Given the description of an element on the screen output the (x, y) to click on. 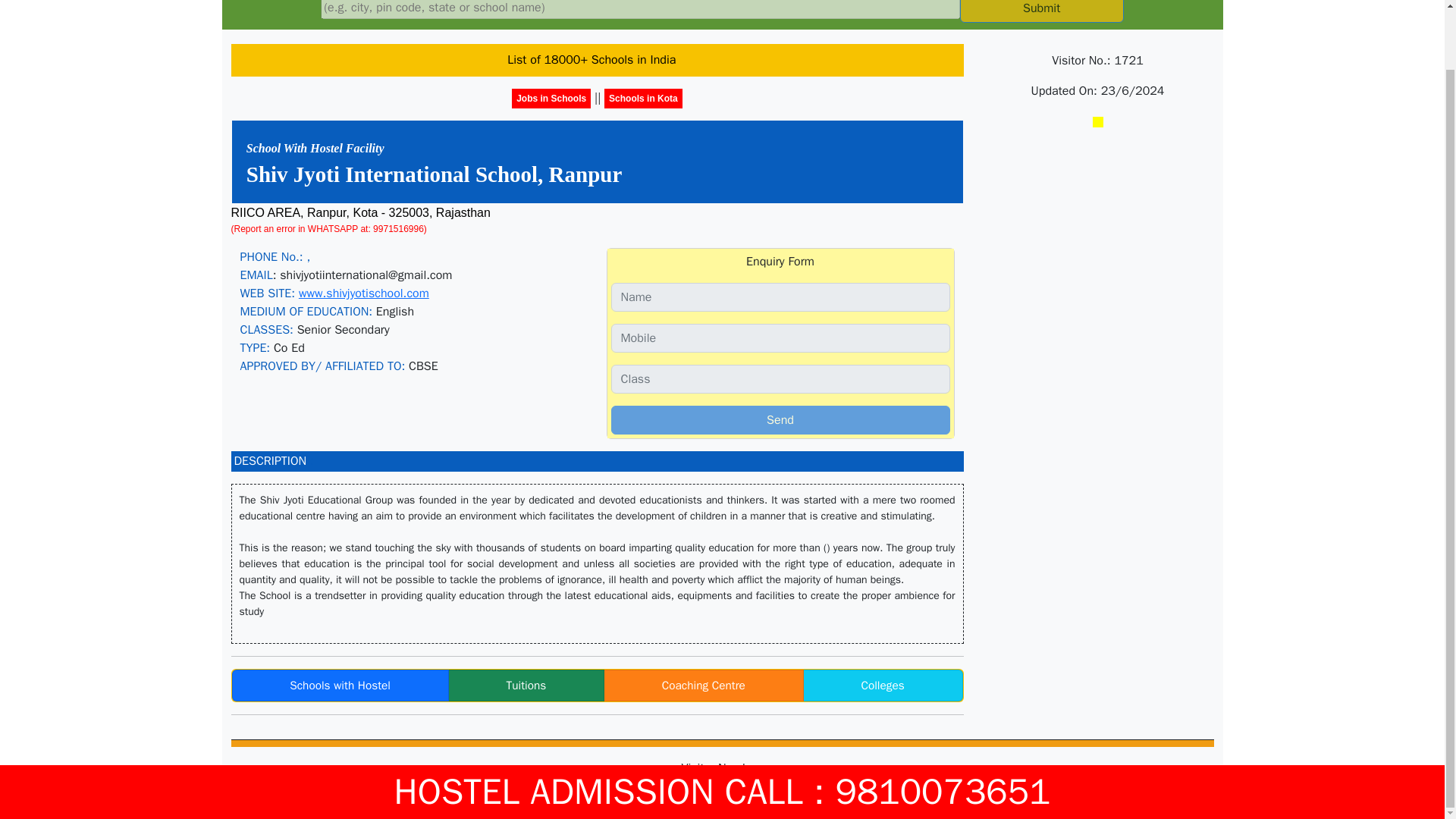
Submit (1041, 11)
www.shivjyotischool.com (363, 293)
Schools with Hostel (339, 685)
Schools in Delhi NCR (882, 685)
Jobs in Schools (551, 98)
Coaching Centre (703, 685)
Schools in Delhi NCR (526, 685)
Send (780, 419)
Schools in Kota (643, 98)
Colleges (882, 685)
